Given the description of an element on the screen output the (x, y) to click on. 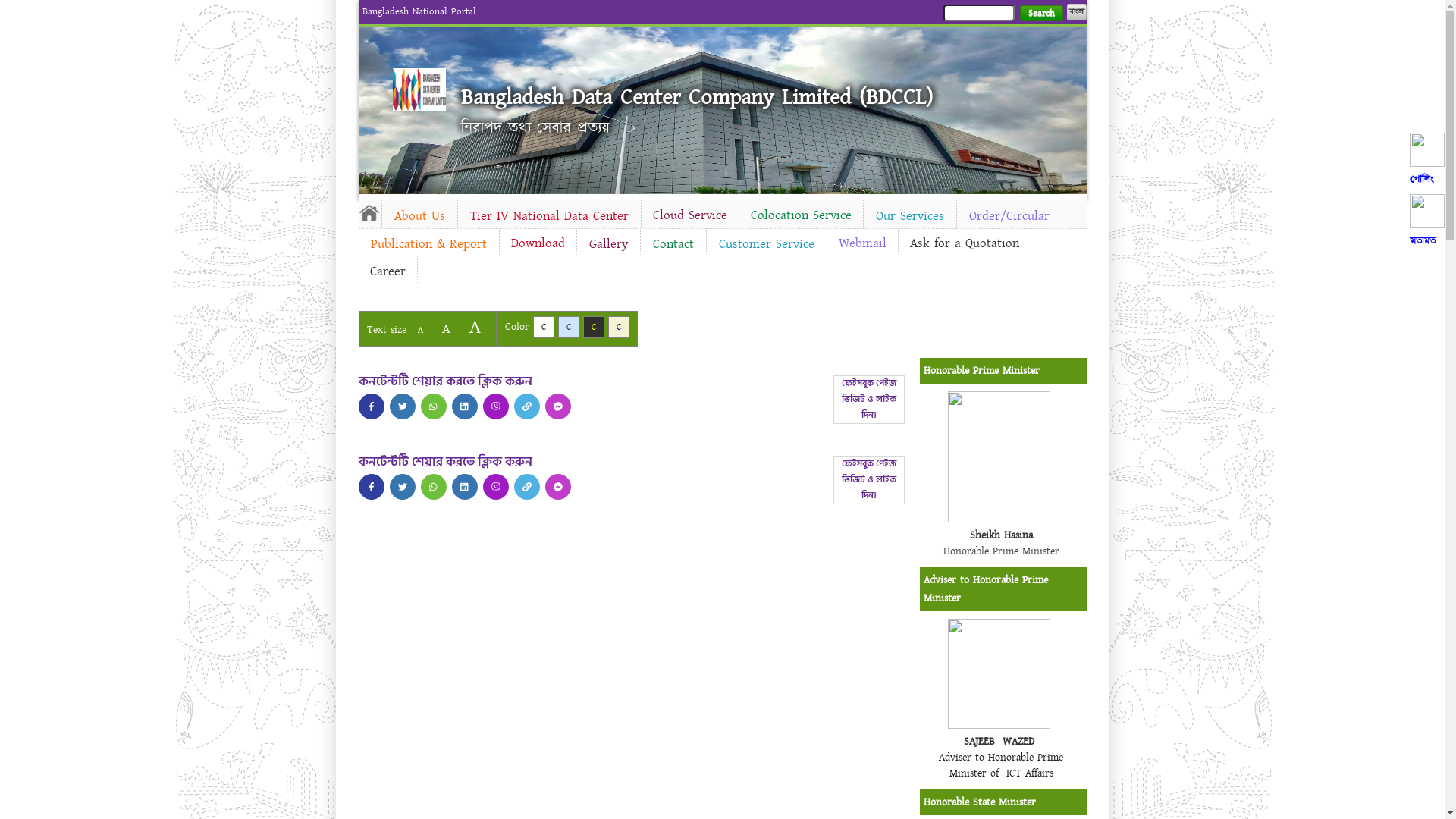
C Element type: text (618, 327)
Our Services Element type: text (908, 216)
Download Element type: text (536, 243)
Webmail Element type: text (861, 243)
Contact Element type: text (672, 244)
C Element type: text (592, 327)
About Us Element type: text (419, 216)
Home Element type: hover (368, 211)
Career Element type: text (386, 271)
C Element type: text (568, 327)
A Element type: text (419, 330)
Colocation Service Element type: text (800, 215)
Order/Circular Element type: text (1009, 216)
Publication & Report Element type: text (427, 244)
Customer Service Element type: text (766, 244)
Ask for a Quotation Element type: text (963, 243)
Tier IV National Data Center Element type: text (549, 216)
Search Element type: text (1040, 13)
Bangladesh Data Center Company Limited (BDCCL) Element type: text (696, 96)
A Element type: text (445, 328)
Gallery Element type: text (607, 244)
A Element type: text (474, 327)
Home Element type: hover (418, 89)
Cloud Service Element type: text (689, 215)
C Element type: text (542, 327)
Bangladesh National Portal Element type: text (419, 11)
